Given the description of an element on the screen output the (x, y) to click on. 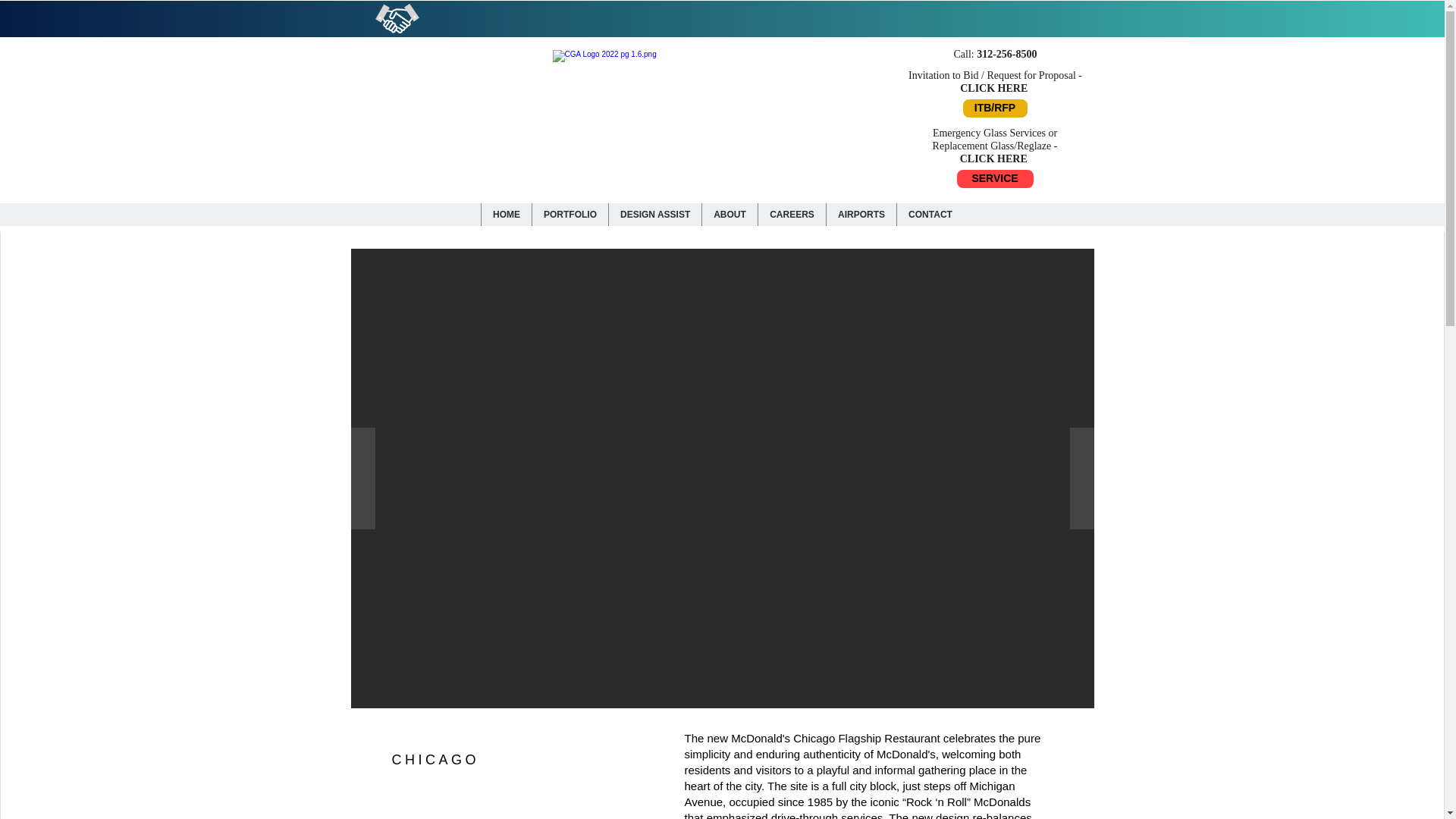
Call:  (964, 53)
DESIGN ASSIST (654, 214)
ABOUT (729, 214)
CAREERS (791, 214)
SERVICE (994, 178)
AIRPORTS (860, 214)
HOME (505, 214)
CONTACT (929, 214)
PORTFOLIO (569, 214)
312-256-8500 (1006, 53)
